Given the description of an element on the screen output the (x, y) to click on. 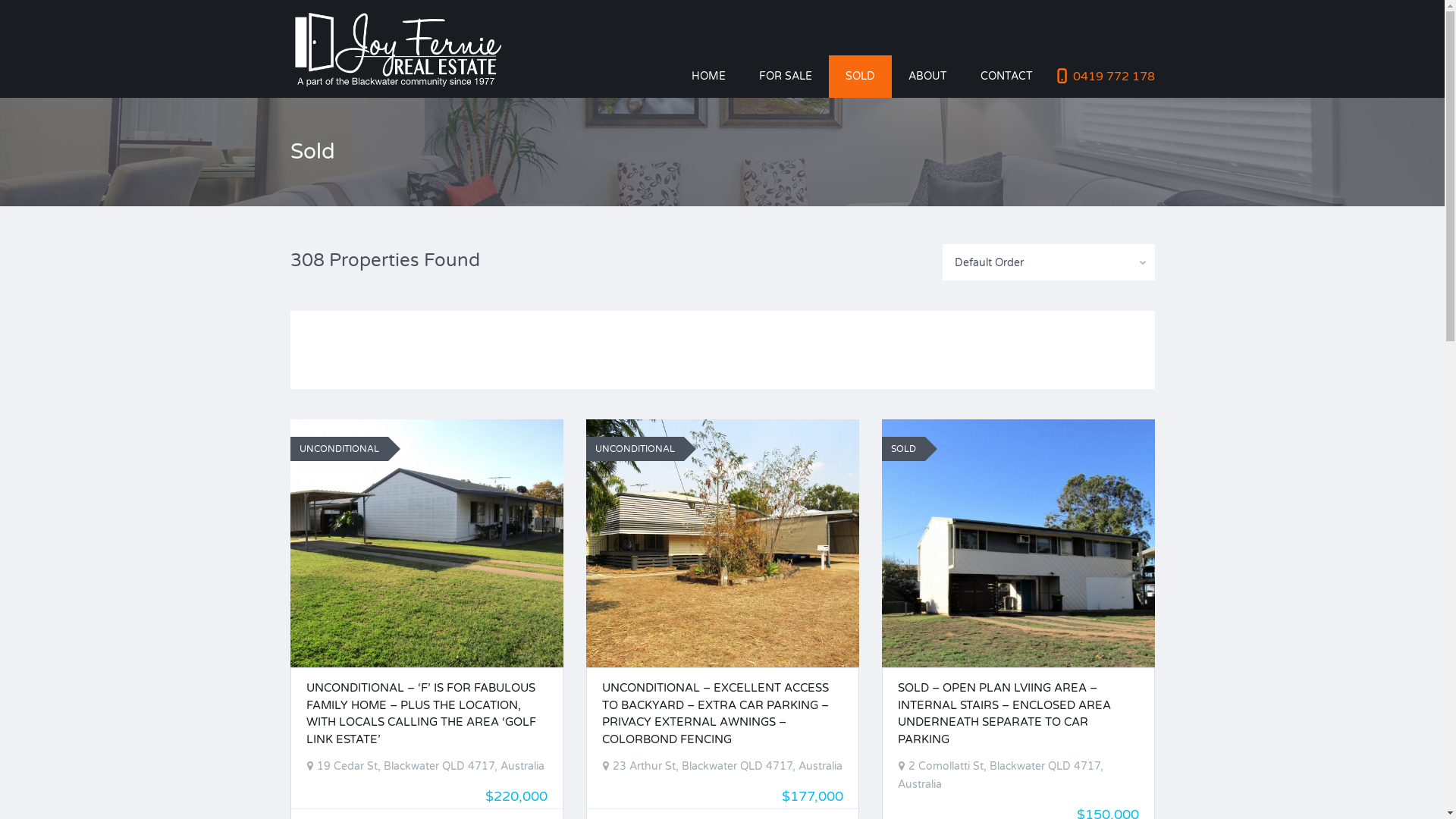
HOME Element type: text (708, 76)
ABOUT Element type: text (927, 76)
FOR SALE Element type: text (784, 76)
CONTACT Element type: text (1005, 76)
UNCONDITIONAL Element type: text (342, 448)
SOLD Element type: text (859, 76)
UNCONDITIONAL Element type: text (638, 448)
SOLD Element type: text (907, 448)
